Given the description of an element on the screen output the (x, y) to click on. 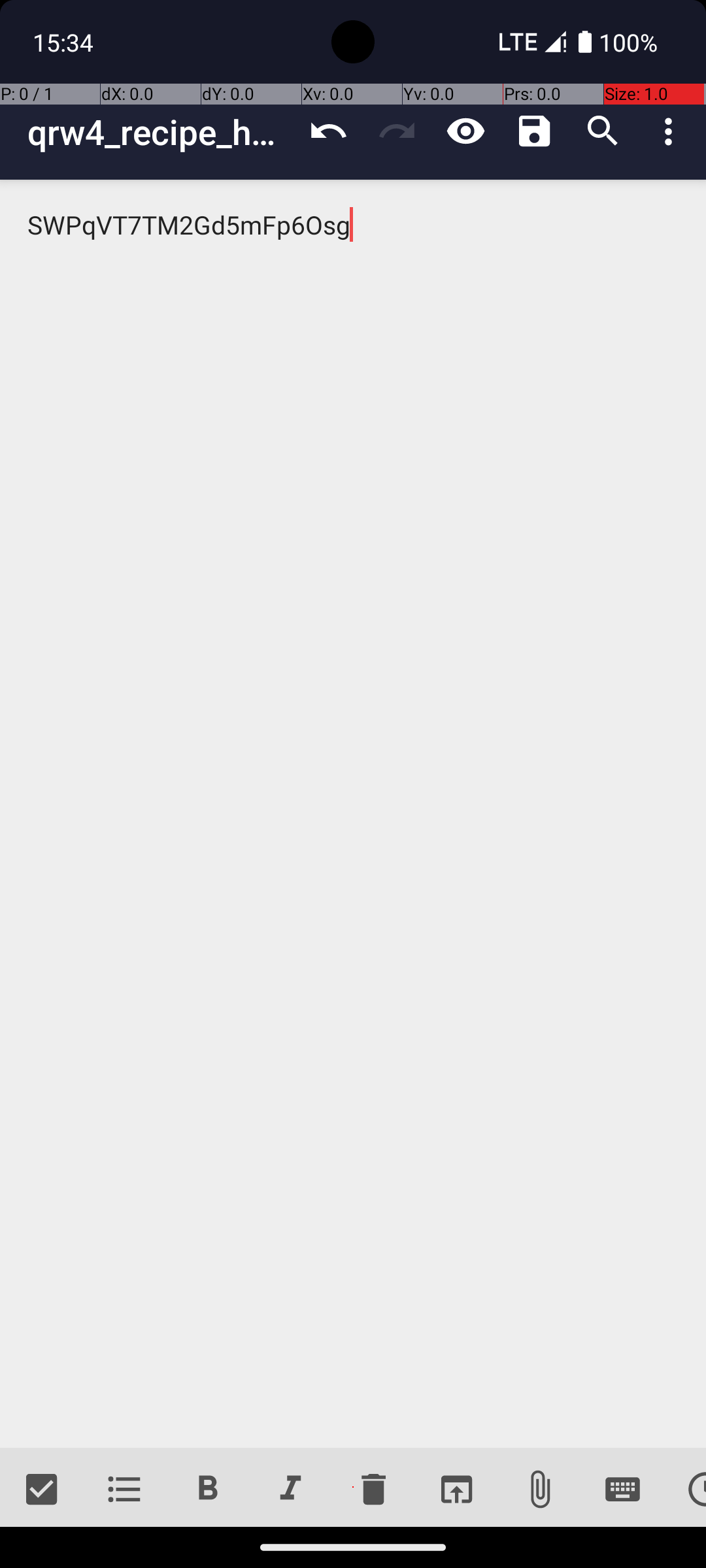
qrw4_recipe_homemade_pizza Element type: android.widget.TextView (160, 131)
SWPqVT7TM2Gd5mFp6Osg Element type: android.widget.EditText (353, 813)
